Given the description of an element on the screen output the (x, y) to click on. 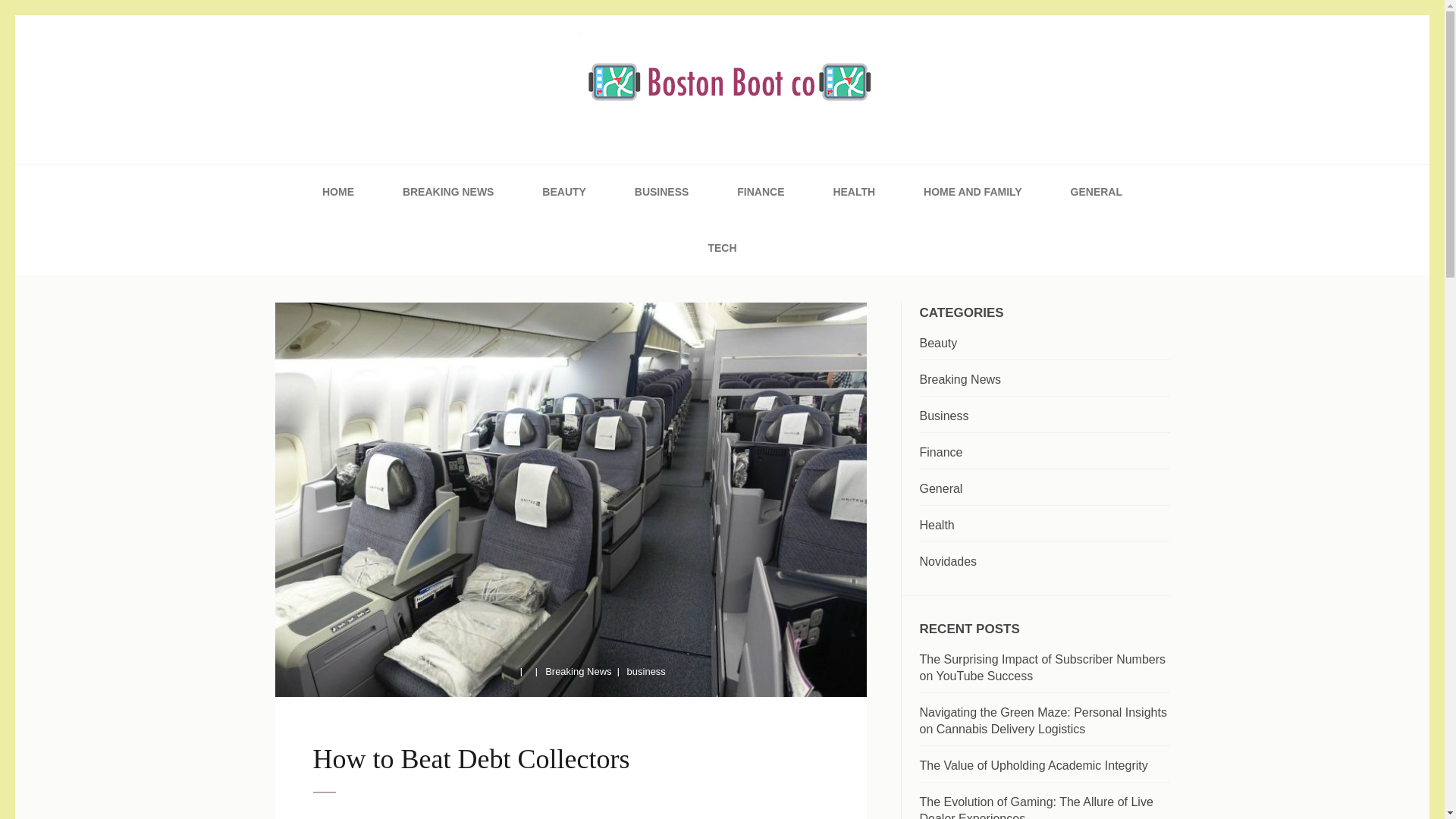
Finance (940, 451)
Breaking News (577, 671)
Business (943, 415)
HOME AND FAMILY (972, 191)
Beauty (937, 342)
BUSINESS (661, 191)
Breaking News (959, 379)
BREAKING NEWS (449, 191)
business (646, 671)
Boston Boot Co (401, 164)
